Given the description of an element on the screen output the (x, y) to click on. 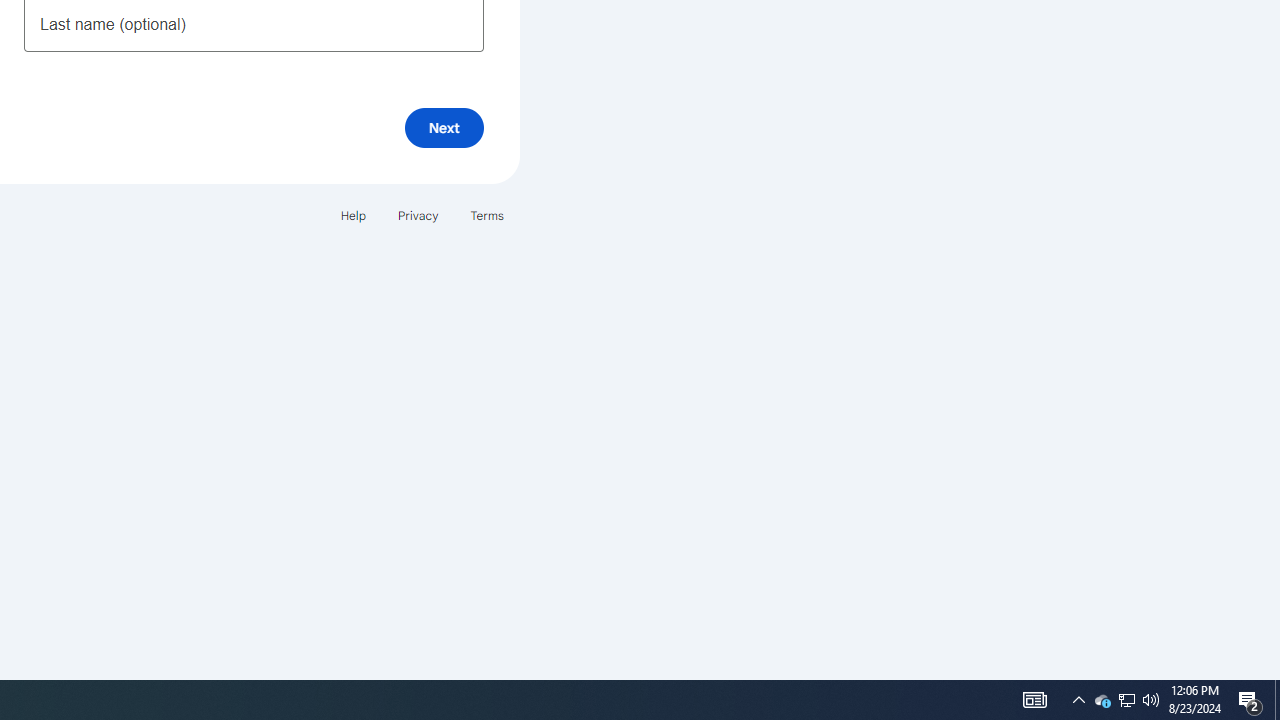
Terms (486, 214)
Help (352, 214)
Next (443, 127)
Privacy (417, 214)
